Given the description of an element on the screen output the (x, y) to click on. 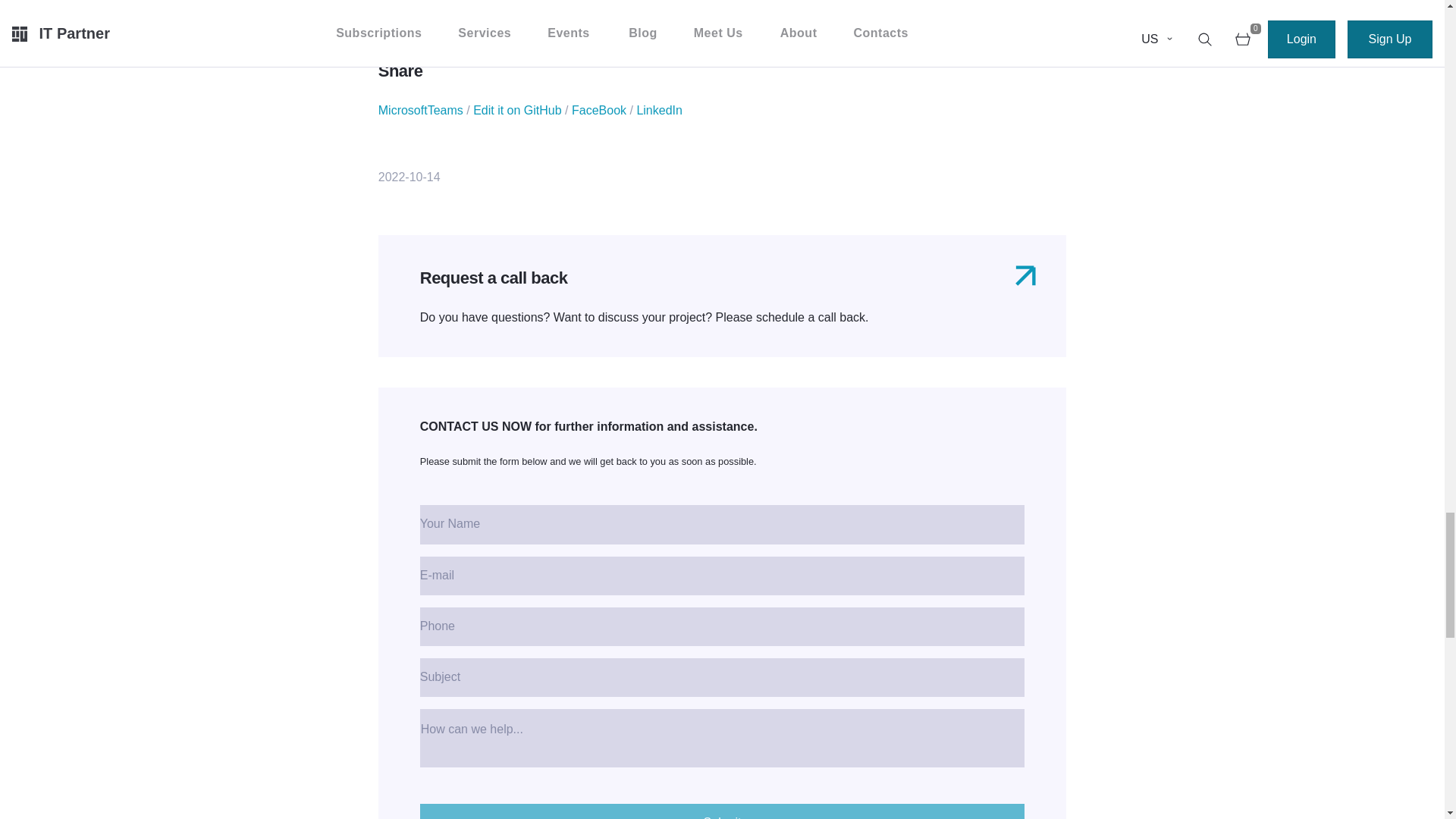
Submit (722, 811)
FaceBook (599, 110)
LinkedIn (659, 110)
Edit it on GitHub (517, 110)
MicrosoftTeams (420, 110)
